Given the description of an element on the screen output the (x, y) to click on. 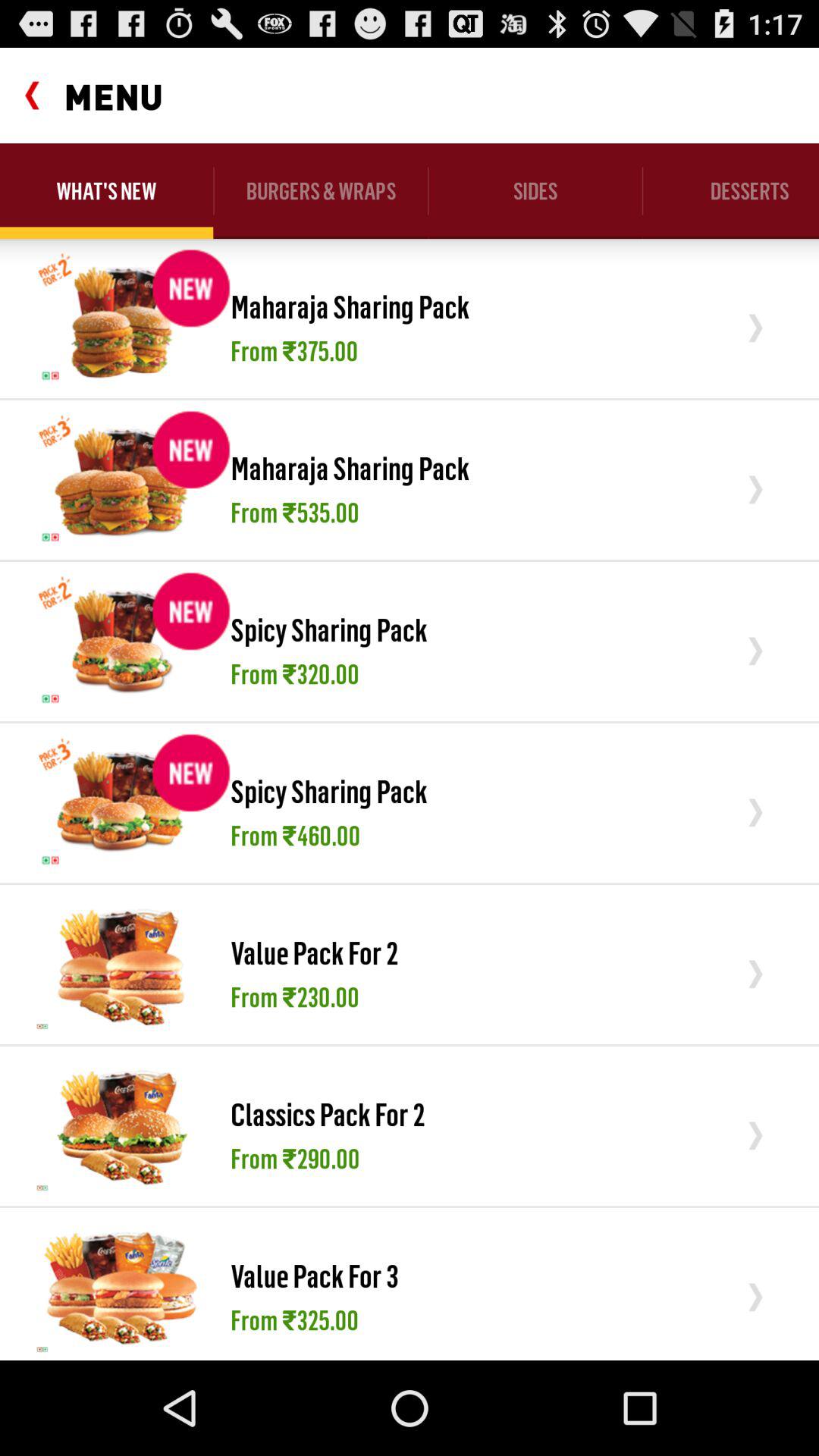
choose icon to the left of the classics pack for item (121, 1125)
